Given the description of an element on the screen output the (x, y) to click on. 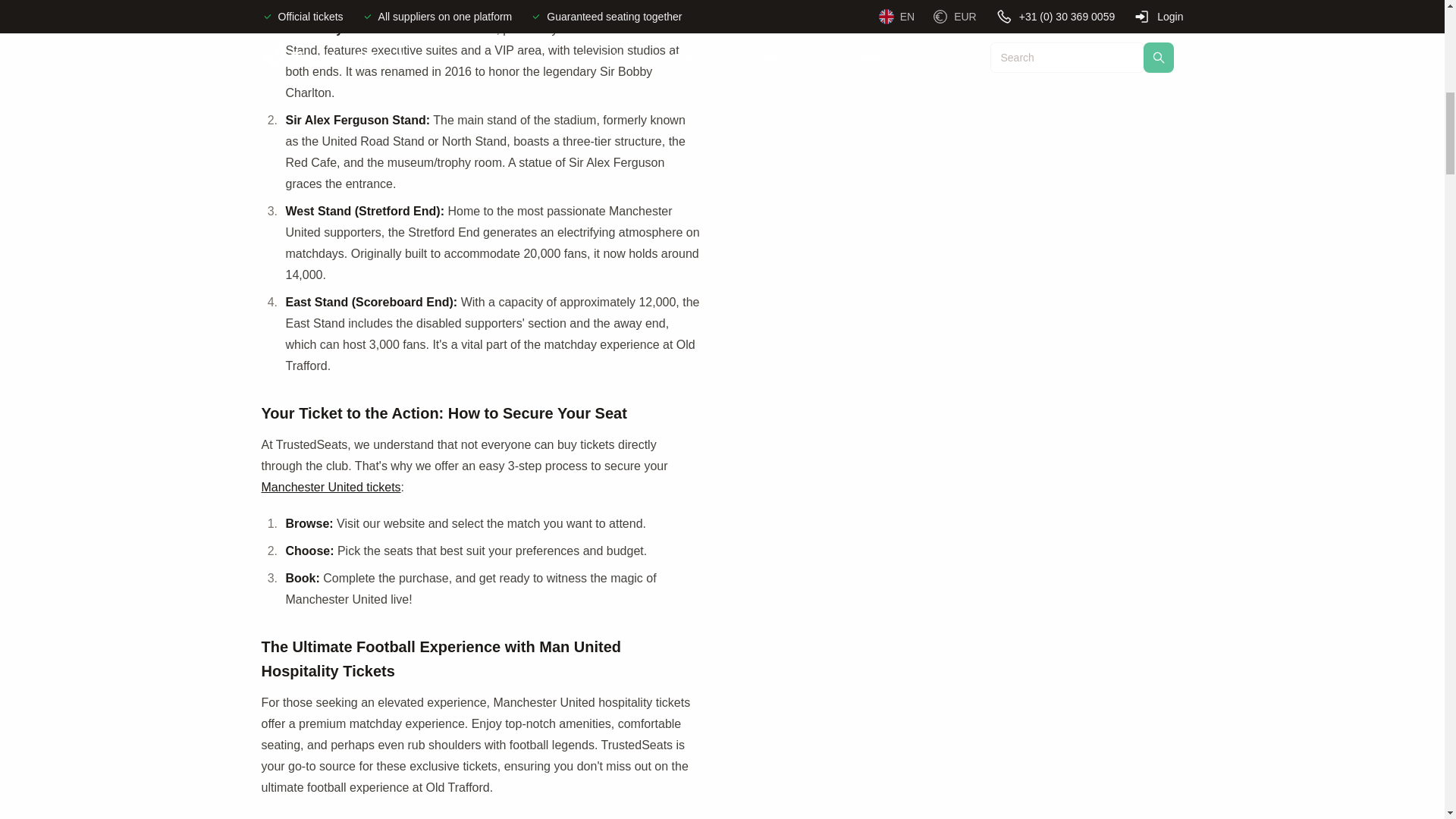
Manchester United tickets (330, 486)
